Given the description of an element on the screen output the (x, y) to click on. 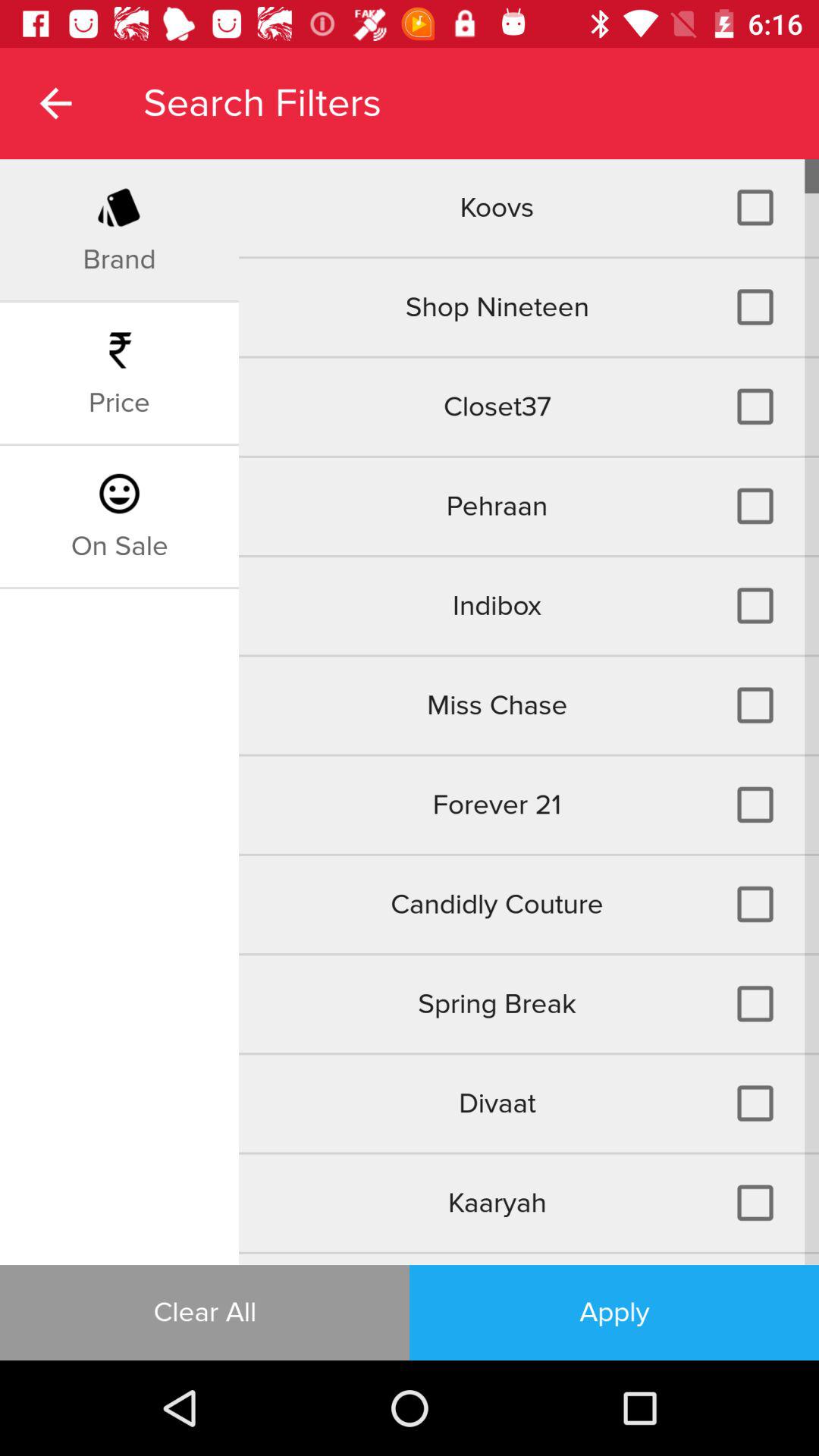
launch icon to the left of the koovs item (119, 259)
